Given the description of an element on the screen output the (x, y) to click on. 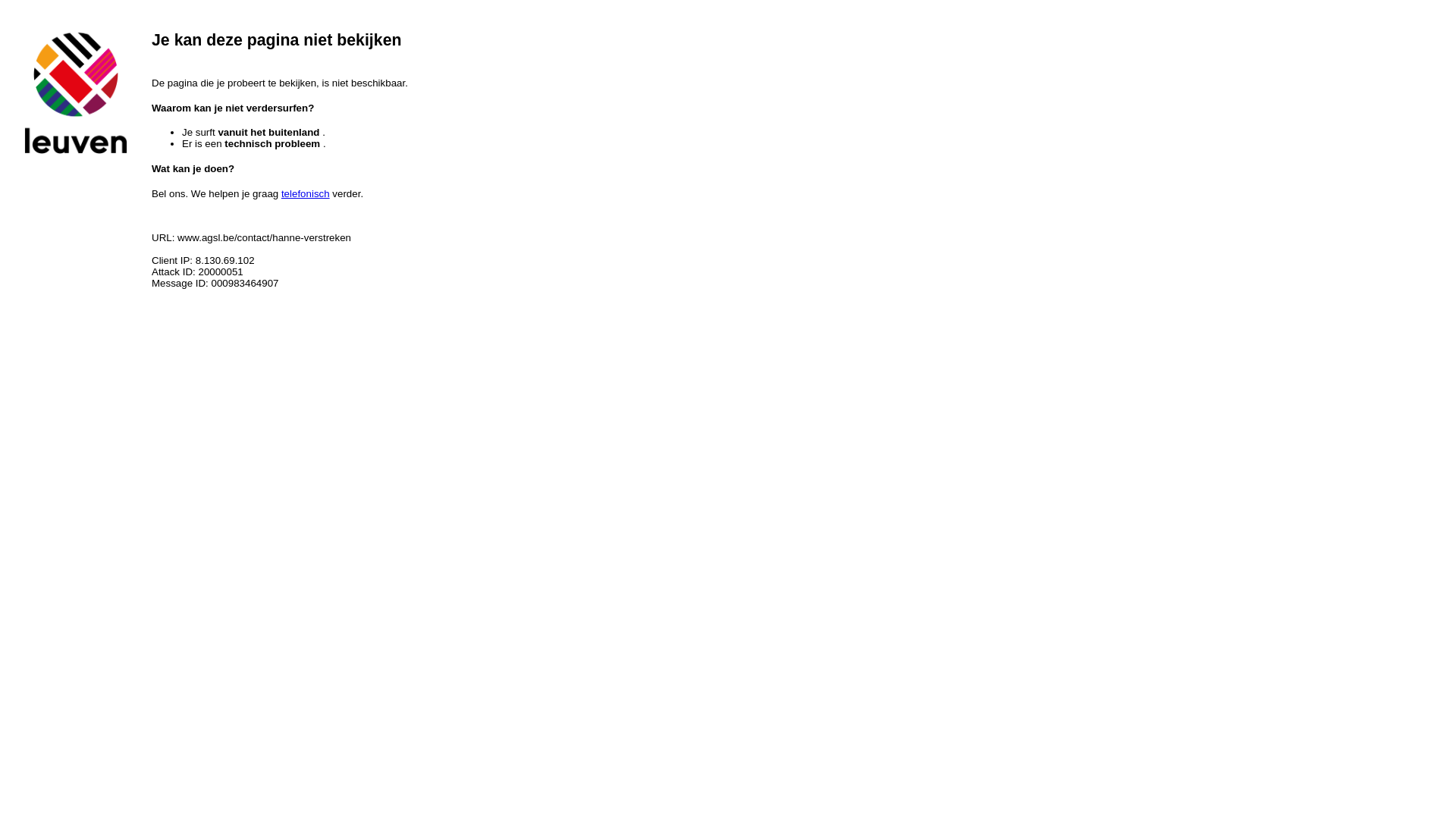
telefonisch Element type: text (305, 193)
